Given the description of an element on the screen output the (x, y) to click on. 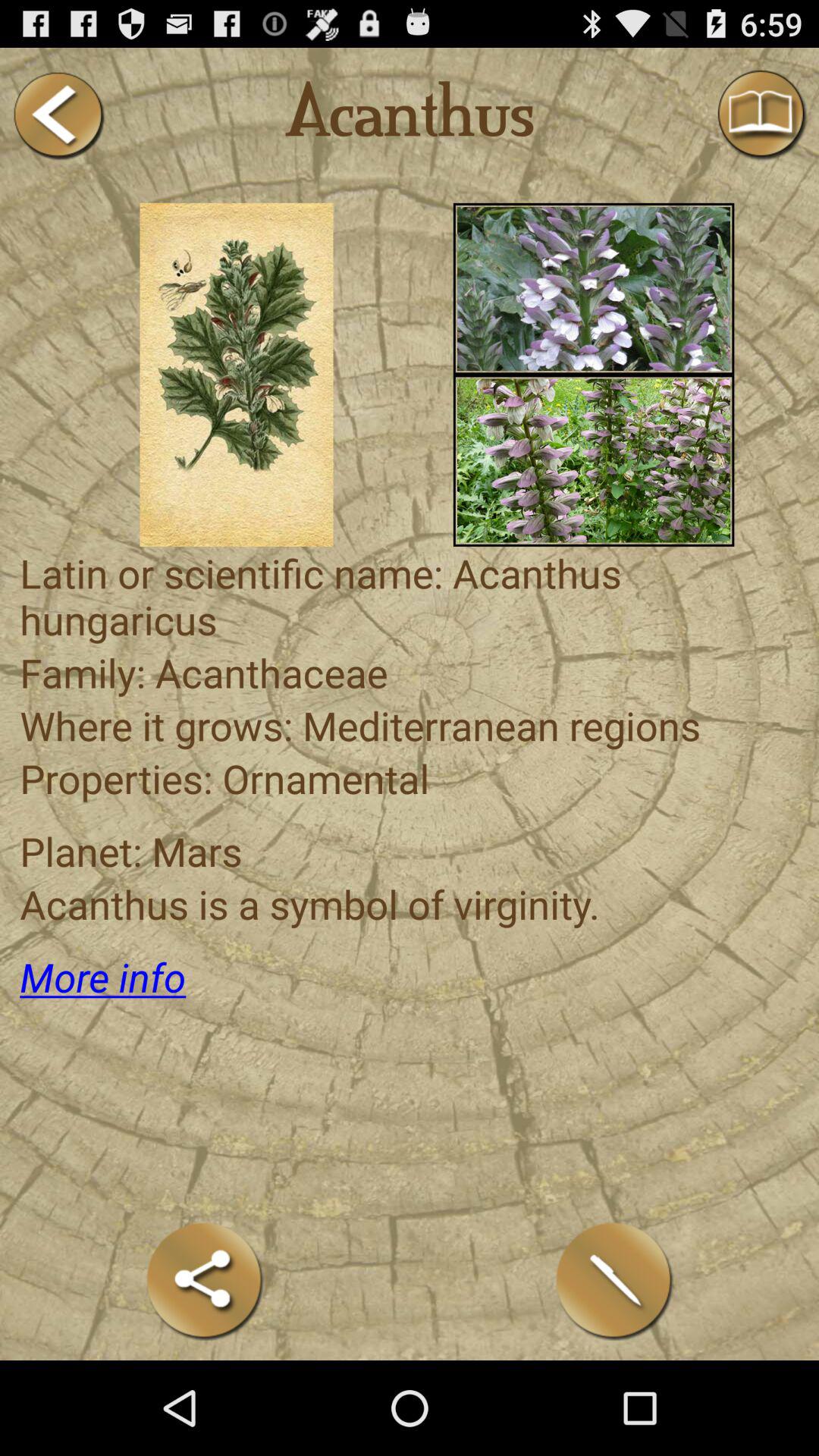
edit (614, 1280)
